Given the description of an element on the screen output the (x, y) to click on. 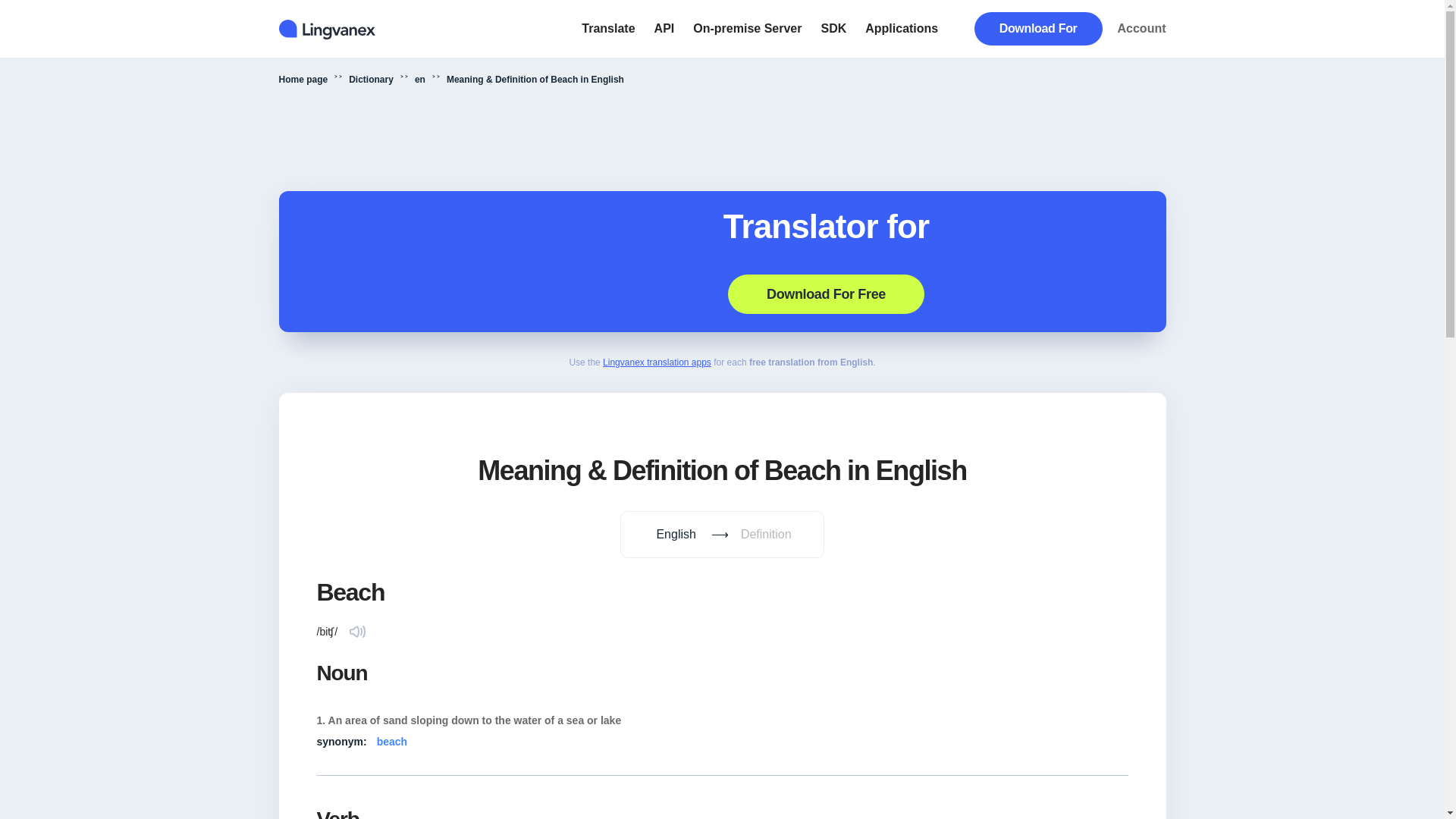
Translate (607, 28)
SDK (833, 28)
Home page (304, 79)
Download For (1038, 28)
Definition (766, 534)
Applications (900, 28)
Account (1142, 28)
On-premise Server (747, 28)
Dictionary (371, 79)
Lingvanex translation apps (656, 362)
en (419, 79)
API (722, 261)
